Given the description of an element on the screen output the (x, y) to click on. 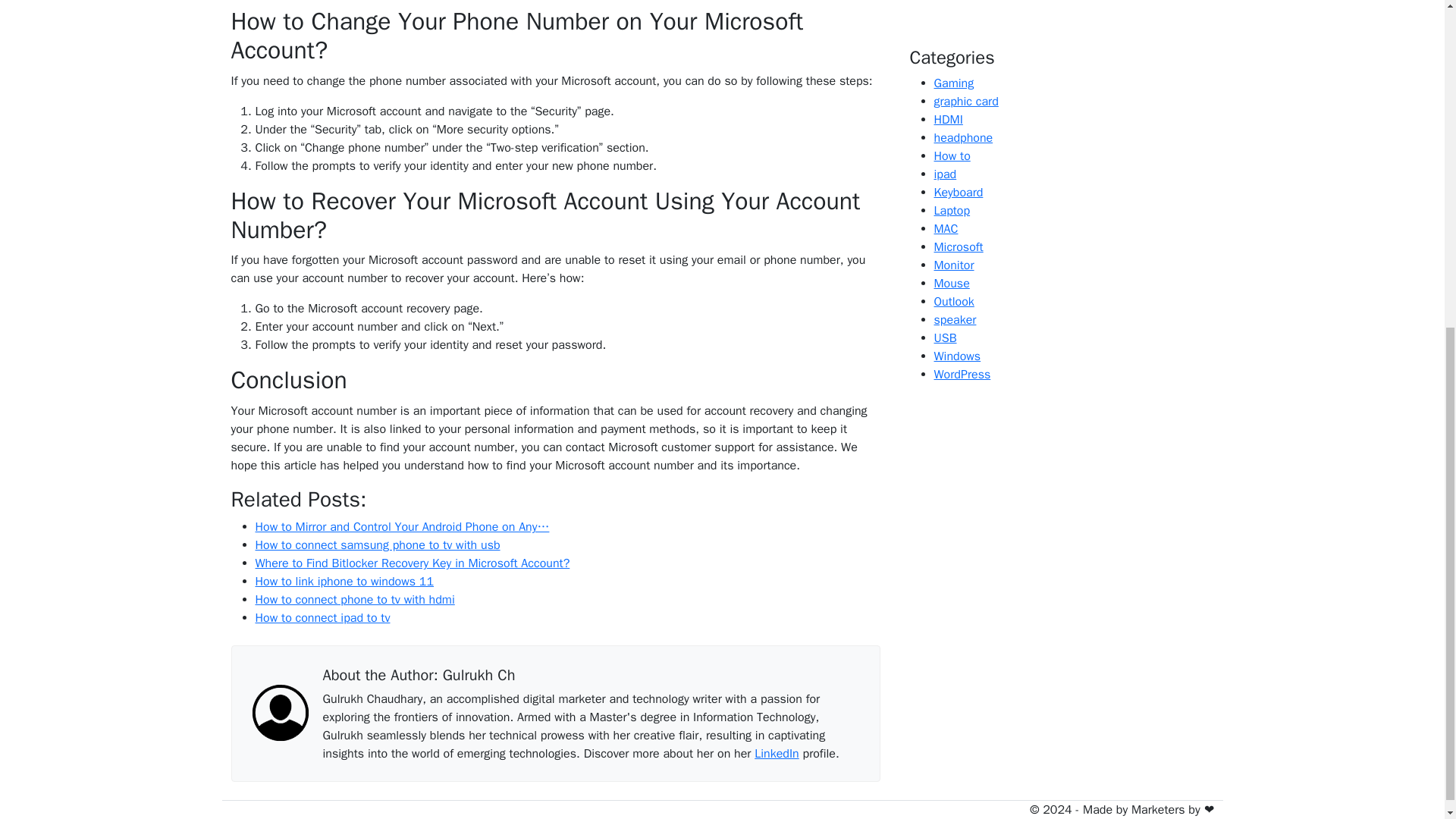
Gaming (954, 83)
How to link iphone to windows 11 (343, 581)
Outlook (954, 301)
How to (952, 155)
graphic card (966, 101)
Laptop (952, 210)
Monitor (954, 264)
MAC (946, 228)
headphone (963, 137)
How to connect samsung phone to tv with usb (376, 544)
